Given the description of an element on the screen output the (x, y) to click on. 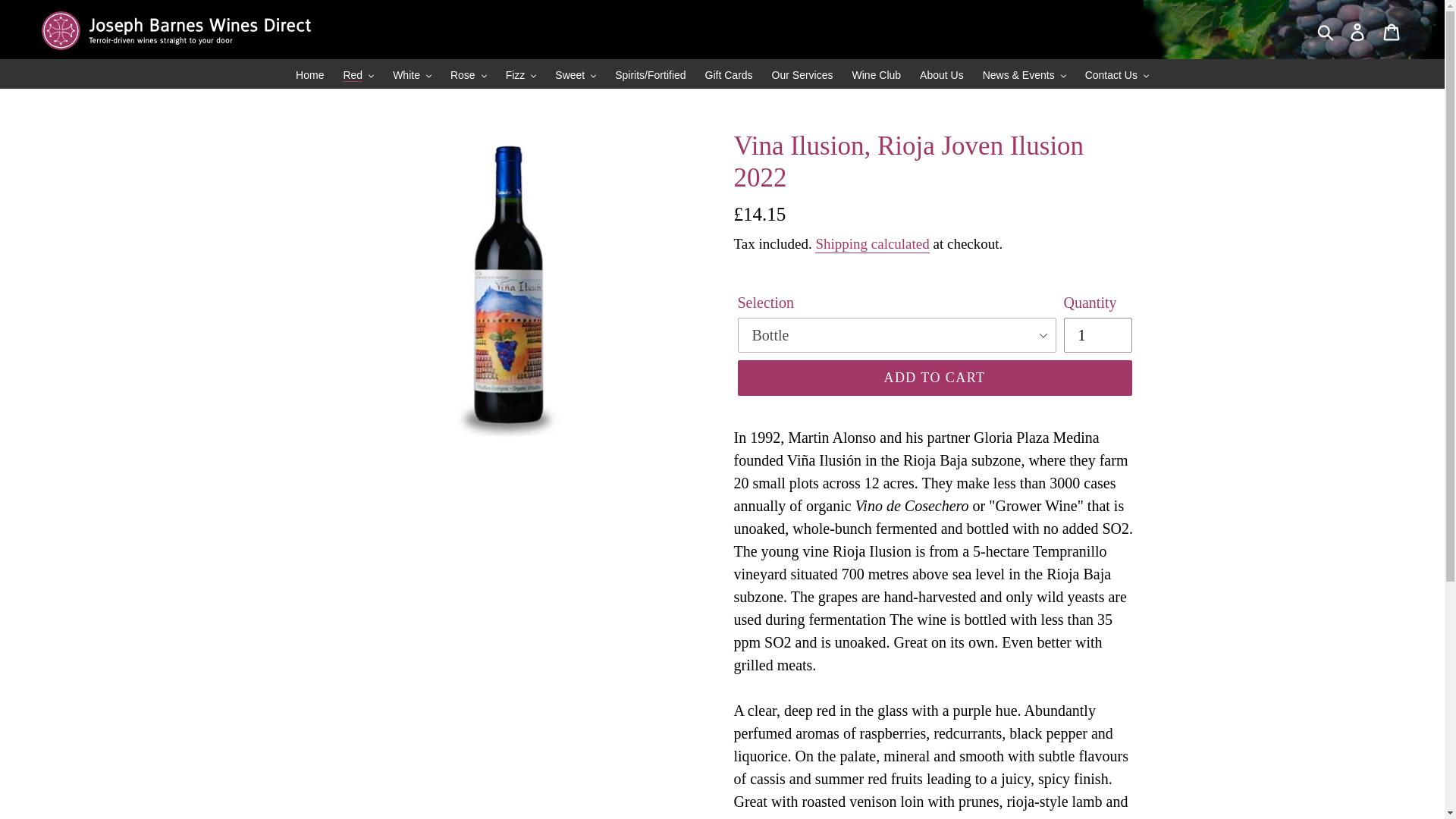
Cart (1392, 30)
Log in (1357, 30)
Submit (1326, 30)
1 (1096, 334)
